Given the description of an element on the screen output the (x, y) to click on. 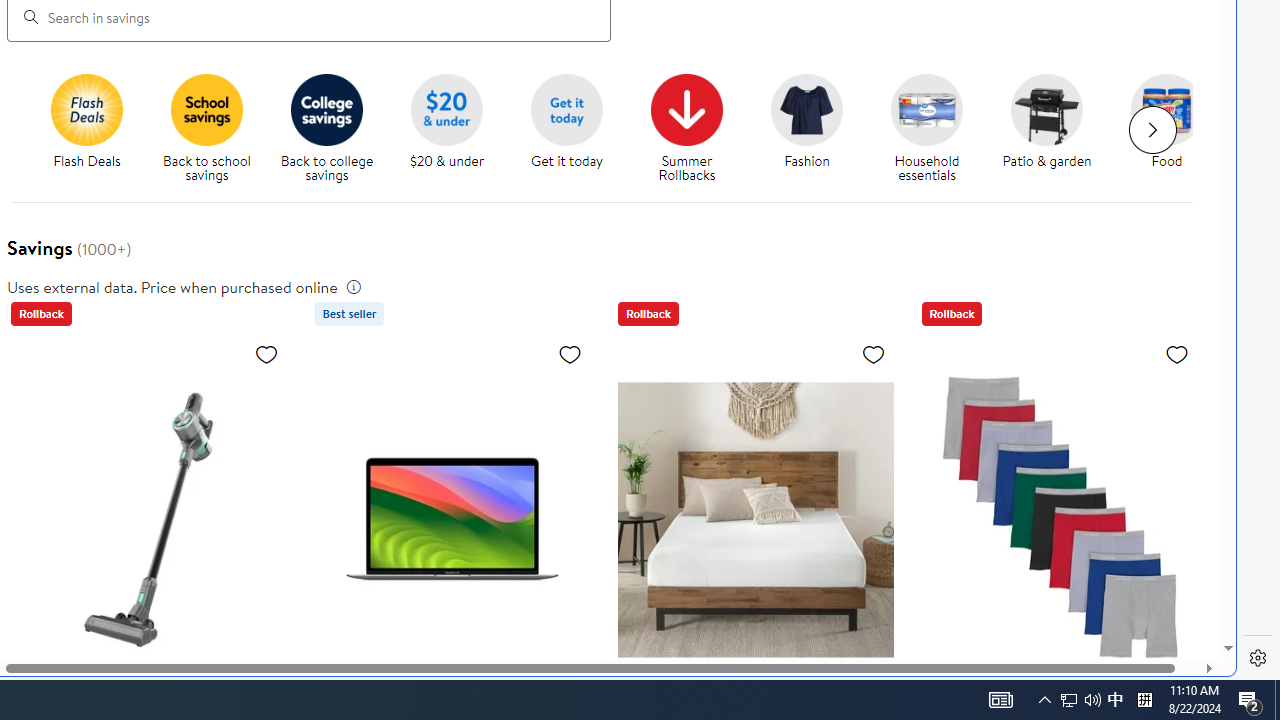
Flash Deals (94, 128)
Get it today Get it today (566, 122)
Household essentials (934, 128)
Hanes Men's Super Value Pack Assorted Boxer Briefs, 10 Pack (1058, 519)
Food (1167, 109)
Summer Rollbacks (694, 128)
Fashion Fashion (806, 122)
Summer Rollbacks Summer Rollbacks (686, 128)
Patio & garden Patio & garden (1046, 122)
Fashion (806, 109)
legal information (353, 286)
Back to College savings (326, 109)
